Given the description of an element on the screen output the (x, y) to click on. 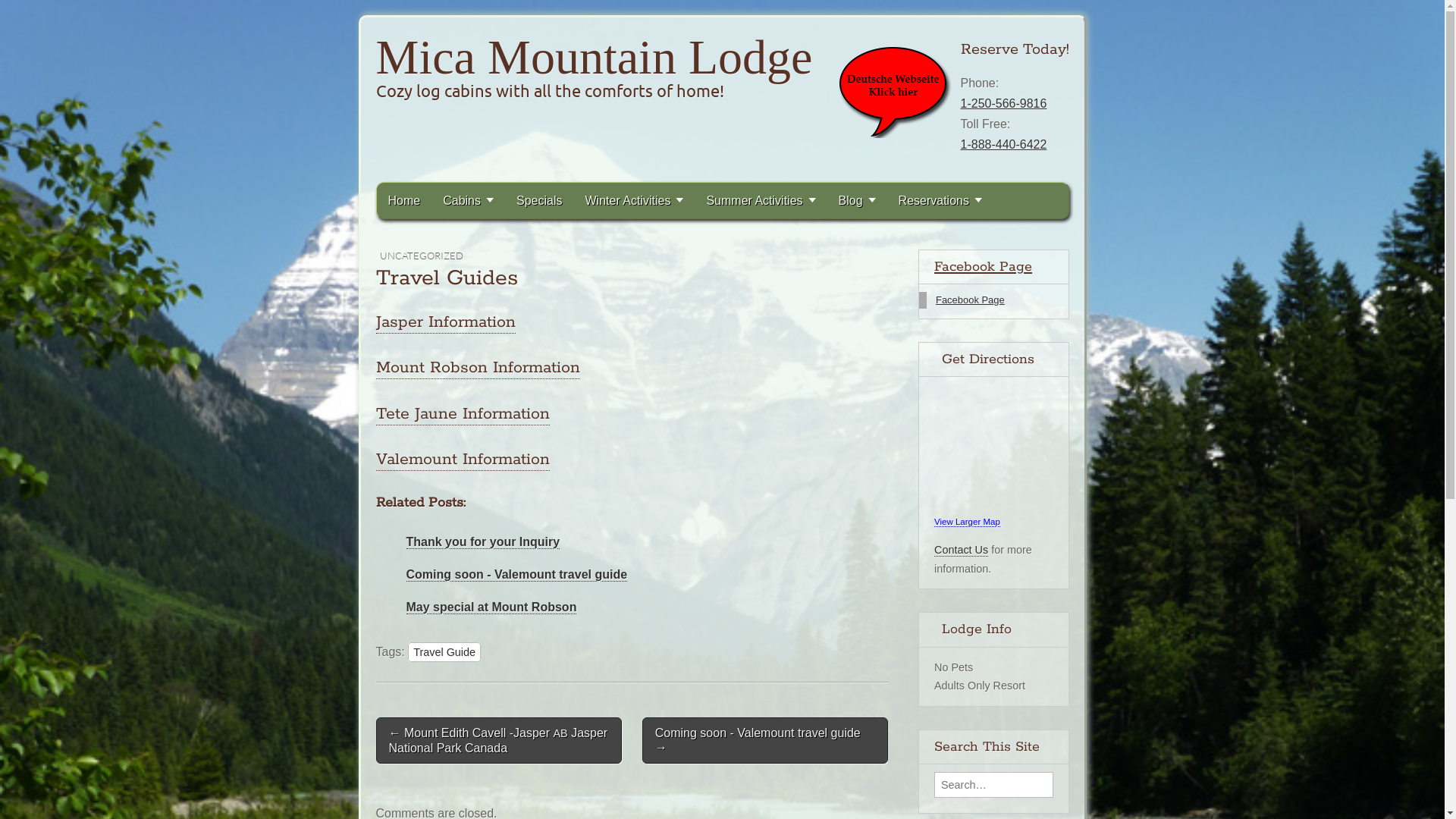
May special at Mount Robson Element type: text (491, 607)
UNCATEGORIZED Element type: text (420, 255)
Cabins Element type: text (468, 200)
Home Element type: text (403, 200)
1-250-566-9816 Element type: text (1003, 103)
View Larger Map Element type: text (967, 522)
Facebook Page Element type: text (969, 299)
Facebook Page Element type: text (983, 266)
Reservations Element type: text (940, 200)
Coming soon - Valemount travel guide Element type: text (516, 574)
Deutsche Webseite, klick hier Element type: hover (893, 91)
1-888-440-6422 Element type: text (1003, 144)
Valemount Information Element type: text (462, 459)
Summer Activities Element type: text (760, 200)
Jasper Information Element type: text (445, 322)
Winter Activities Element type: text (633, 200)
Thank you for your Inquiry Element type: text (483, 542)
Travel Guide Element type: text (443, 652)
Specials Element type: text (539, 200)
Mica Mountain Lodge Element type: text (594, 57)
Mount Robson Information Element type: text (478, 368)
Tete Jaune Information Element type: text (462, 414)
Contact Us Element type: text (961, 549)
Blog Element type: text (857, 200)
